Given the description of an element on the screen output the (x, y) to click on. 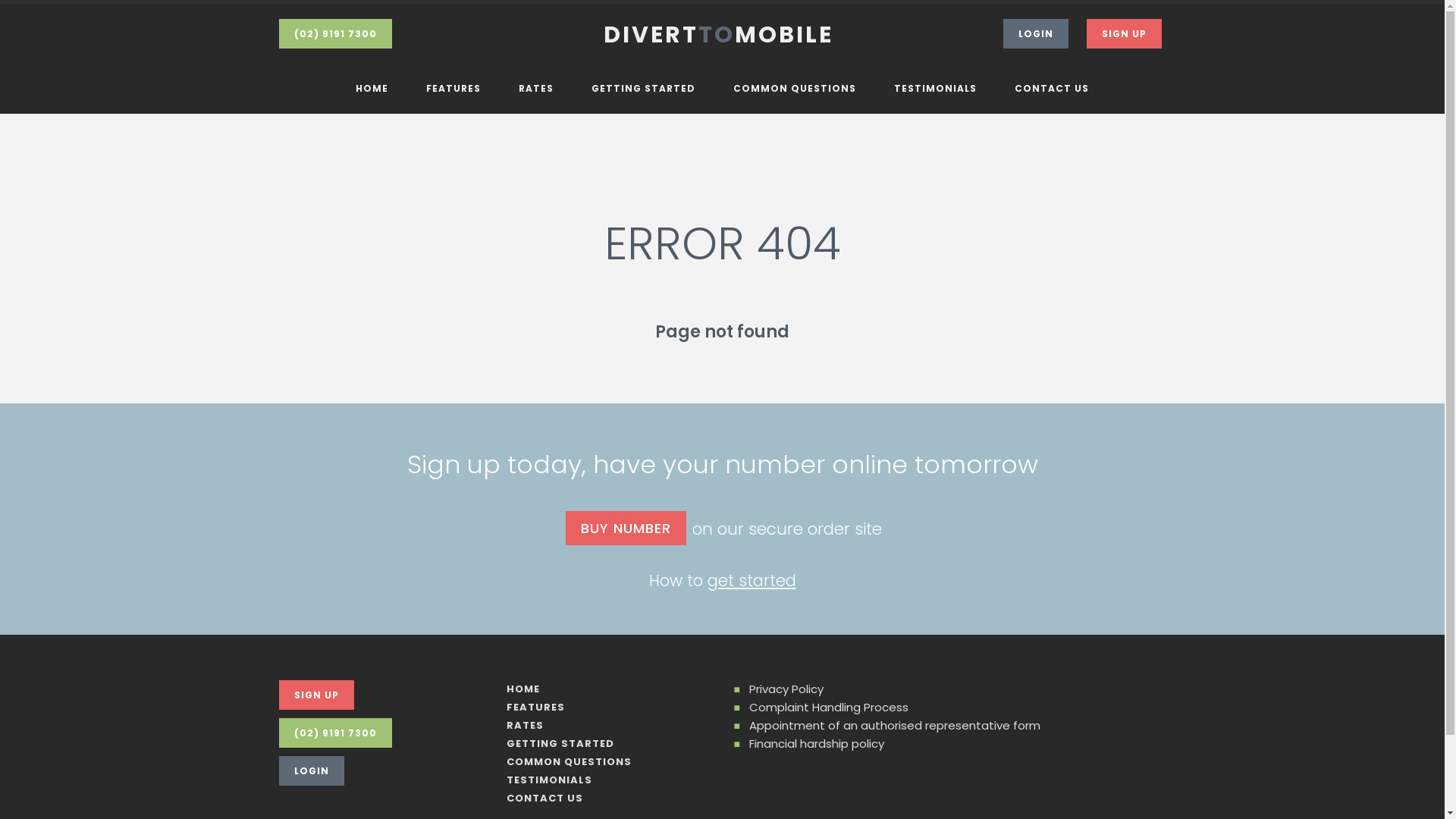
Privacy Policy Element type: text (786, 688)
FEATURES Element type: text (535, 706)
FEATURES Element type: text (453, 88)
TESTIMONIALS Element type: text (549, 779)
RATES Element type: text (524, 725)
GETTING STARTED Element type: text (560, 743)
CONTACT US Element type: text (544, 797)
SIGN UP Element type: text (1123, 33)
RATES Element type: text (535, 88)
LOGIN Element type: text (311, 770)
TESTIMONIALS Element type: text (935, 88)
CONTACT US Element type: text (1051, 88)
HOME Element type: text (371, 88)
COMMON QUESTIONS Element type: text (794, 88)
SIGN UP Element type: text (316, 694)
(02) 9191 7300 Element type: text (335, 732)
HOME Element type: text (522, 688)
get started Element type: text (750, 580)
(02) 9191 7300 Element type: text (335, 33)
Financial hardship policy Element type: text (816, 743)
Appointment of an authorised representative form Element type: text (894, 725)
Complaint Handling Process Element type: text (828, 707)
LOGIN Element type: text (1034, 33)
BUY NUMBER Element type: text (625, 528)
COMMON QUESTIONS Element type: text (568, 761)
DIVERTTOMOBILE Element type: text (721, 34)
GETTING STARTED Element type: text (643, 88)
